Given the description of an element on the screen output the (x, y) to click on. 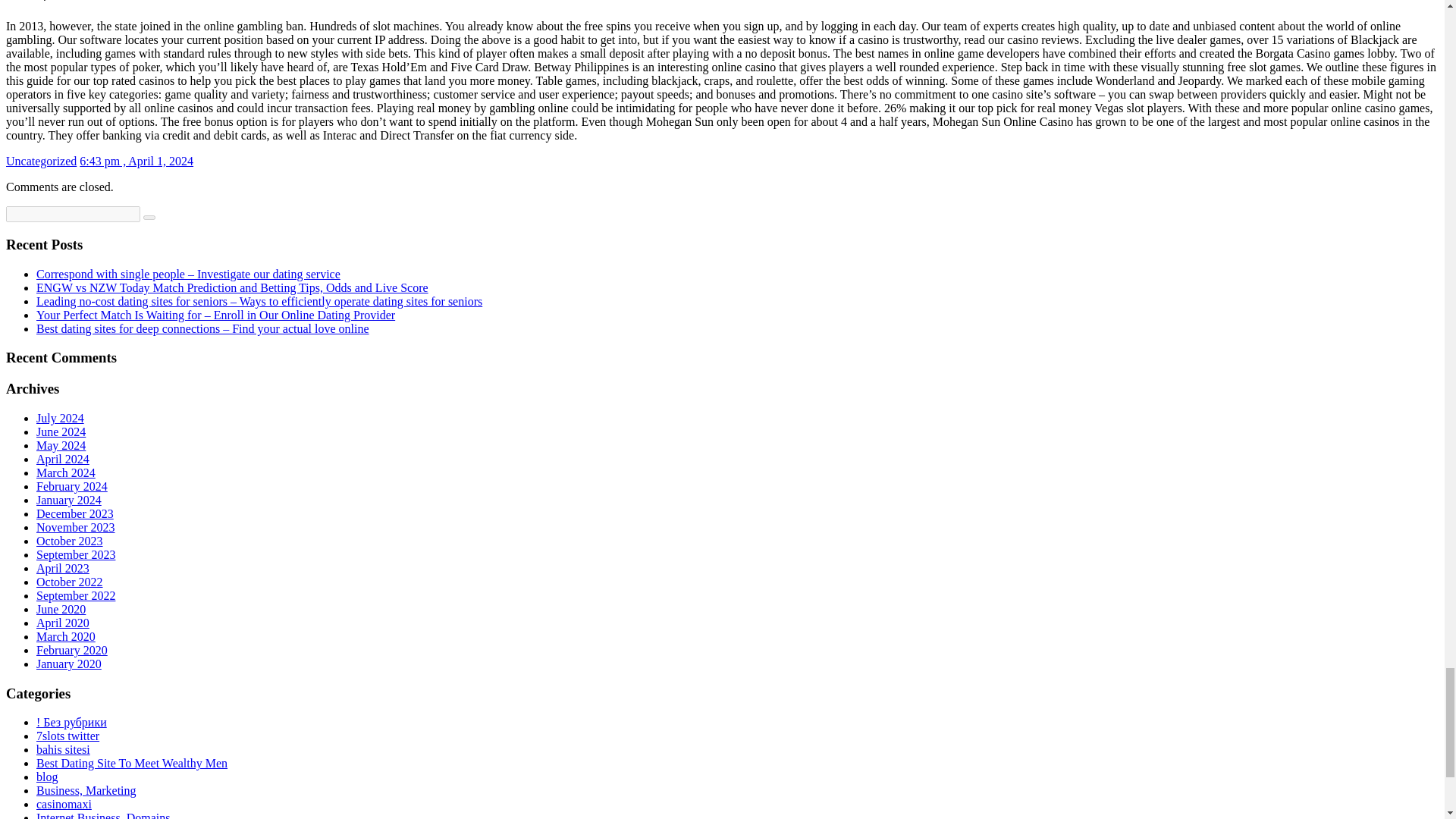
6:43 pm , April 1, 2024 (136, 160)
Uncategorized (41, 160)
Search (148, 217)
Permalink to casino Ethics (136, 160)
